Given the description of an element on the screen output the (x, y) to click on. 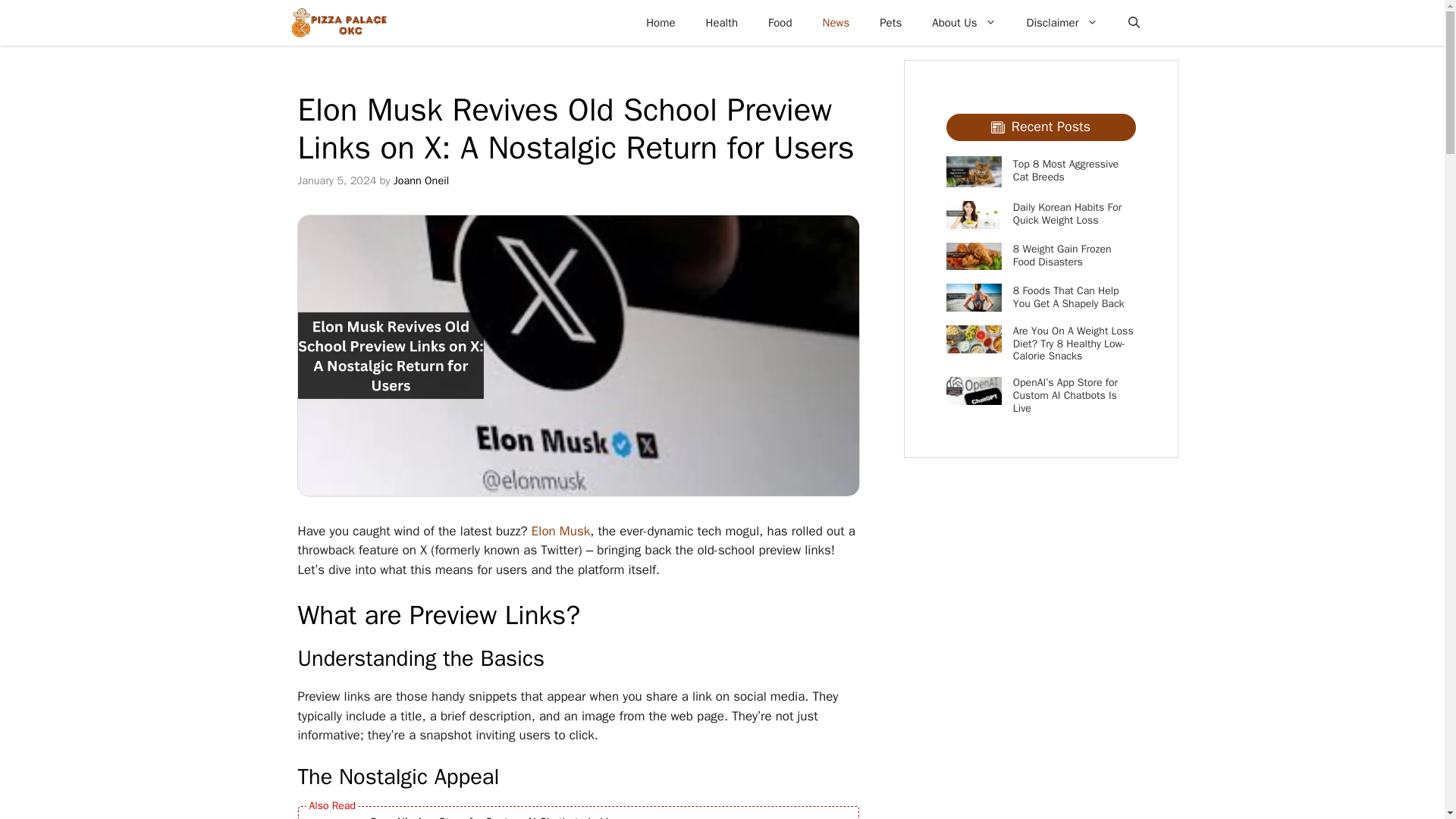
Home (660, 22)
8 Weight Gain Frozen Food Disasters (1062, 255)
About Us (963, 22)
Top 8 Most Aggressive Cat Breeds (1065, 170)
Food (779, 22)
Pets (890, 22)
Daily Korean Habits For Quick Weight Loss (1067, 213)
Pizza Palace OKC (338, 22)
Disclaimer (1062, 22)
